Given the description of an element on the screen output the (x, y) to click on. 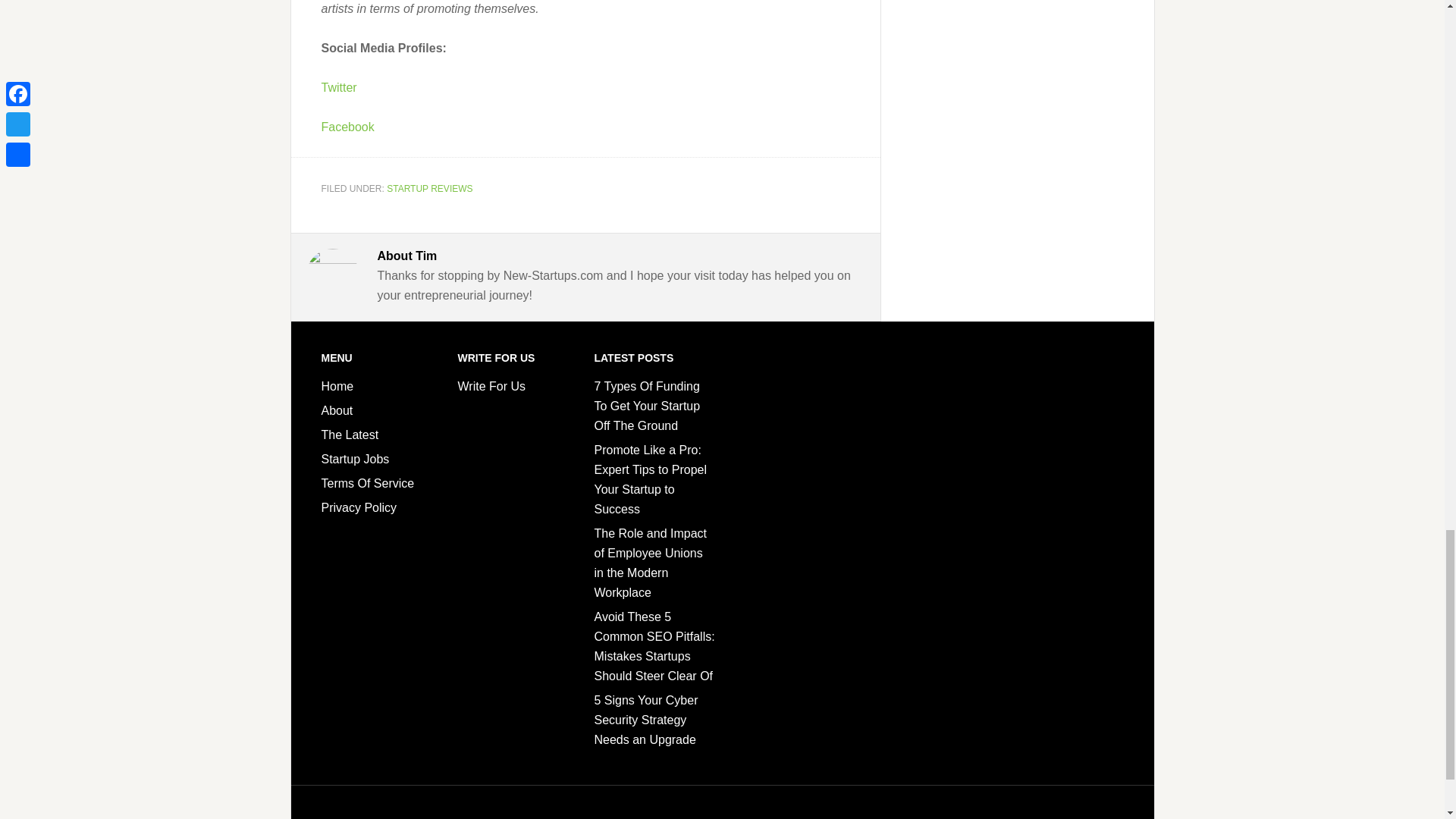
Facebook (347, 126)
Startup Jobs (355, 459)
STARTUP REVIEWS (429, 187)
About (337, 410)
Home (337, 386)
Write For Us (491, 386)
The Latest (349, 434)
Terms Of Service (367, 482)
Twitter (338, 87)
7 Types Of Funding To Get Your Startup Off The Ground (647, 406)
Privacy Policy (359, 507)
